Given the description of an element on the screen output the (x, y) to click on. 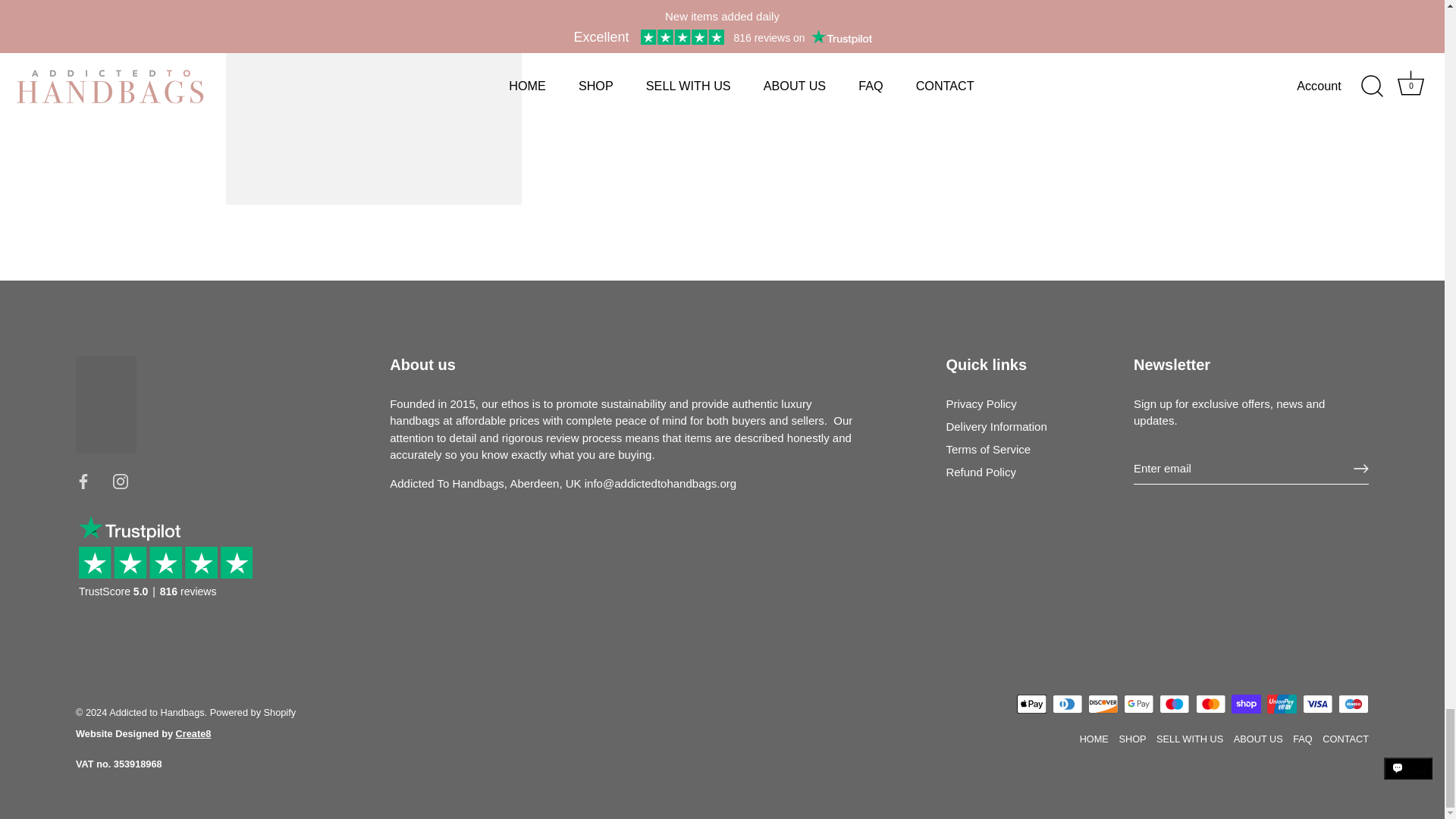
Customer reviews powered by Trustpilot (170, 569)
Mastercard (1209, 703)
Shop Pay (1245, 703)
Visa (1317, 703)
Apple Pay (1031, 703)
Discover (1102, 703)
RIGHT ARROW LONG (1361, 468)
Diners Club (1067, 703)
Instagram (120, 481)
Maestro (1173, 703)
